Given the description of an element on the screen output the (x, y) to click on. 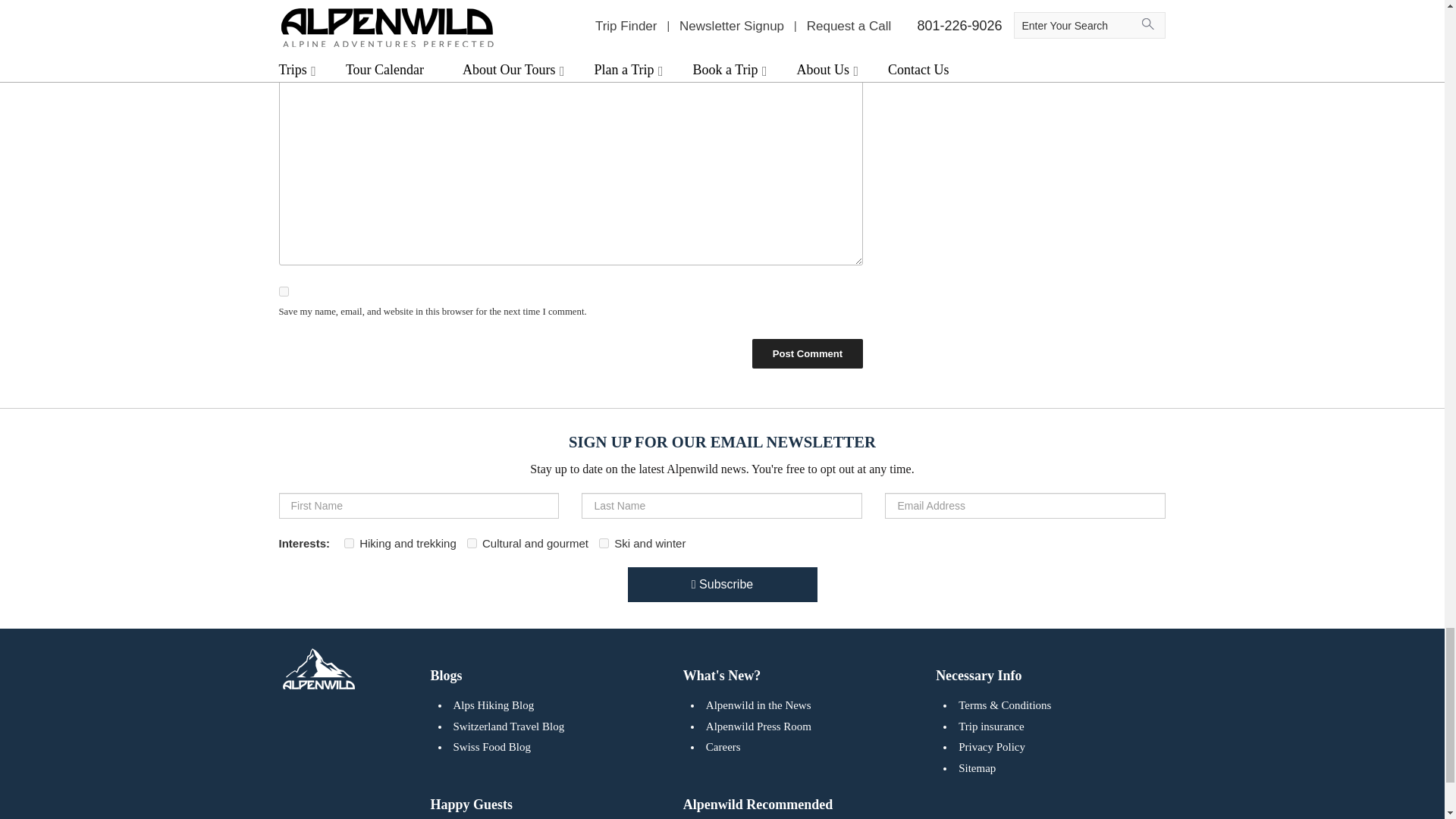
yes (283, 291)
Post Comment (806, 353)
